Given the description of an element on the screen output the (x, y) to click on. 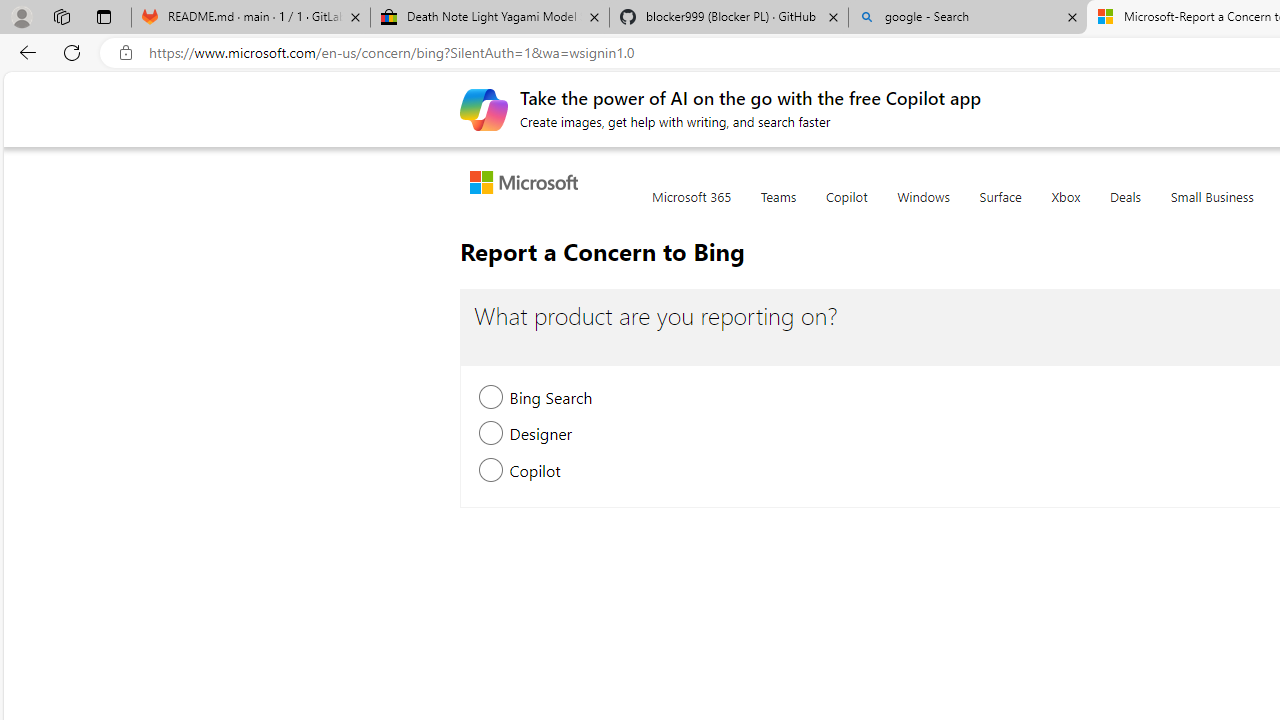
Windows (923, 208)
